Given the description of an element on the screen output the (x, y) to click on. 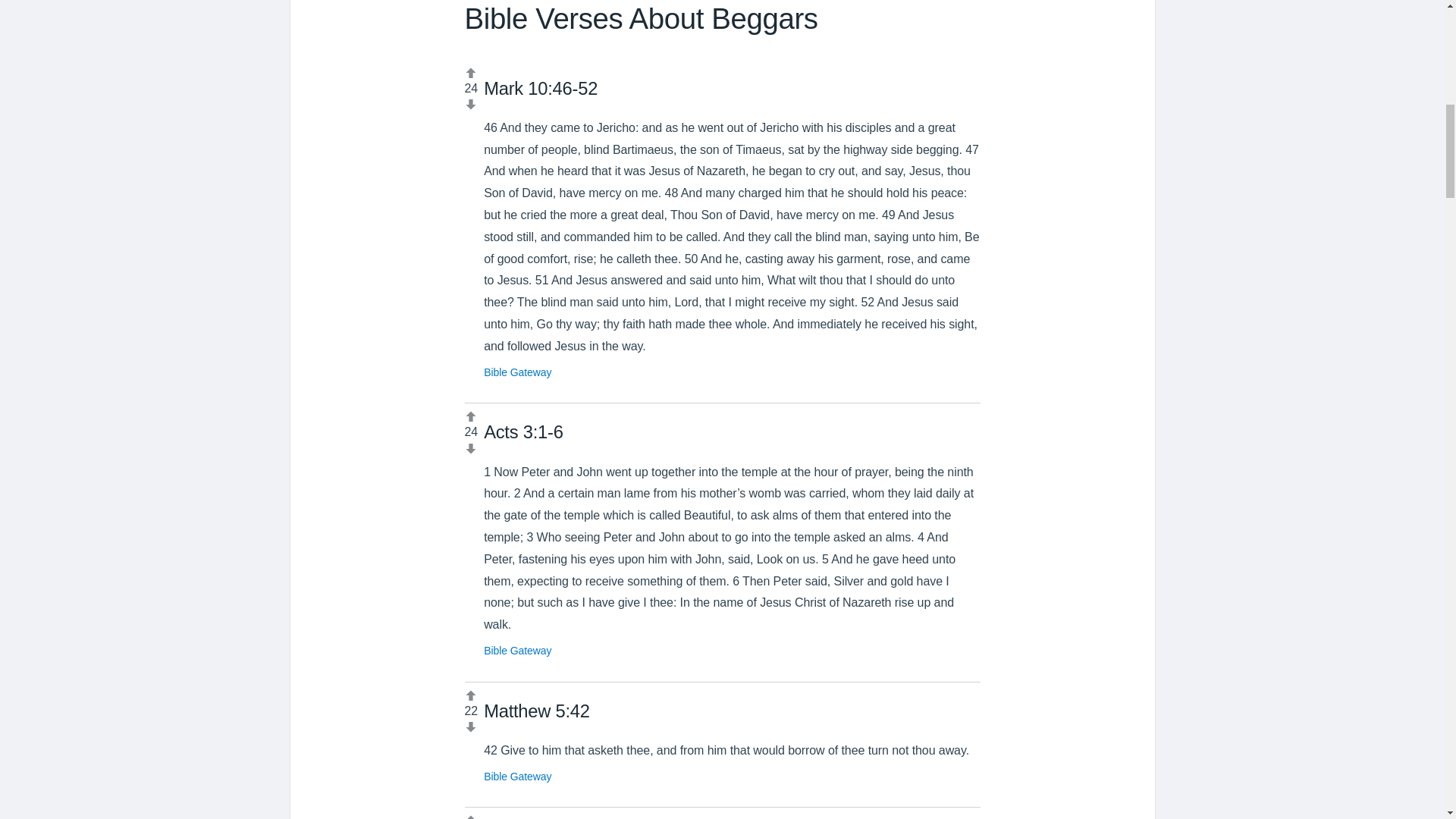
Bible Gateway (517, 372)
Bible Gateway (517, 776)
Bible Gateway (517, 650)
